Given the description of an element on the screen output the (x, y) to click on. 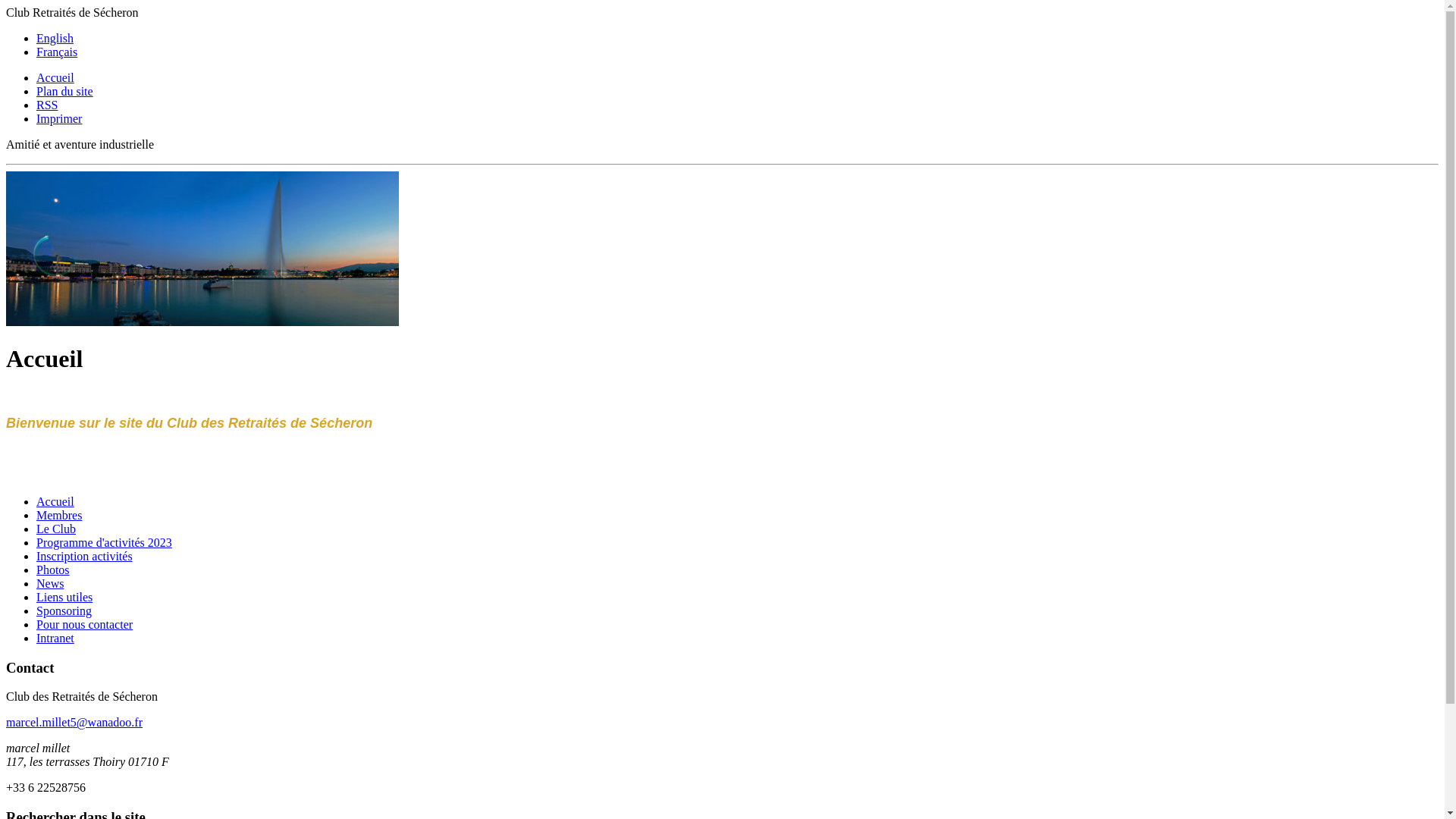
News Element type: text (49, 583)
English Element type: text (54, 37)
Accueil Element type: text (55, 501)
Liens utiles Element type: text (64, 596)
marcel.millet5@wanadoo.fr Element type: text (74, 721)
Plan du site Element type: text (64, 90)
Photos Element type: text (52, 569)
Le Club Element type: text (55, 528)
Membres Element type: text (58, 514)
RSS Element type: text (46, 104)
Sponsoring Element type: text (63, 610)
Intranet Element type: text (55, 637)
Accueil Element type: text (55, 77)
Pour nous contacter Element type: text (84, 624)
Imprimer Element type: text (58, 118)
